Given the description of an element on the screen output the (x, y) to click on. 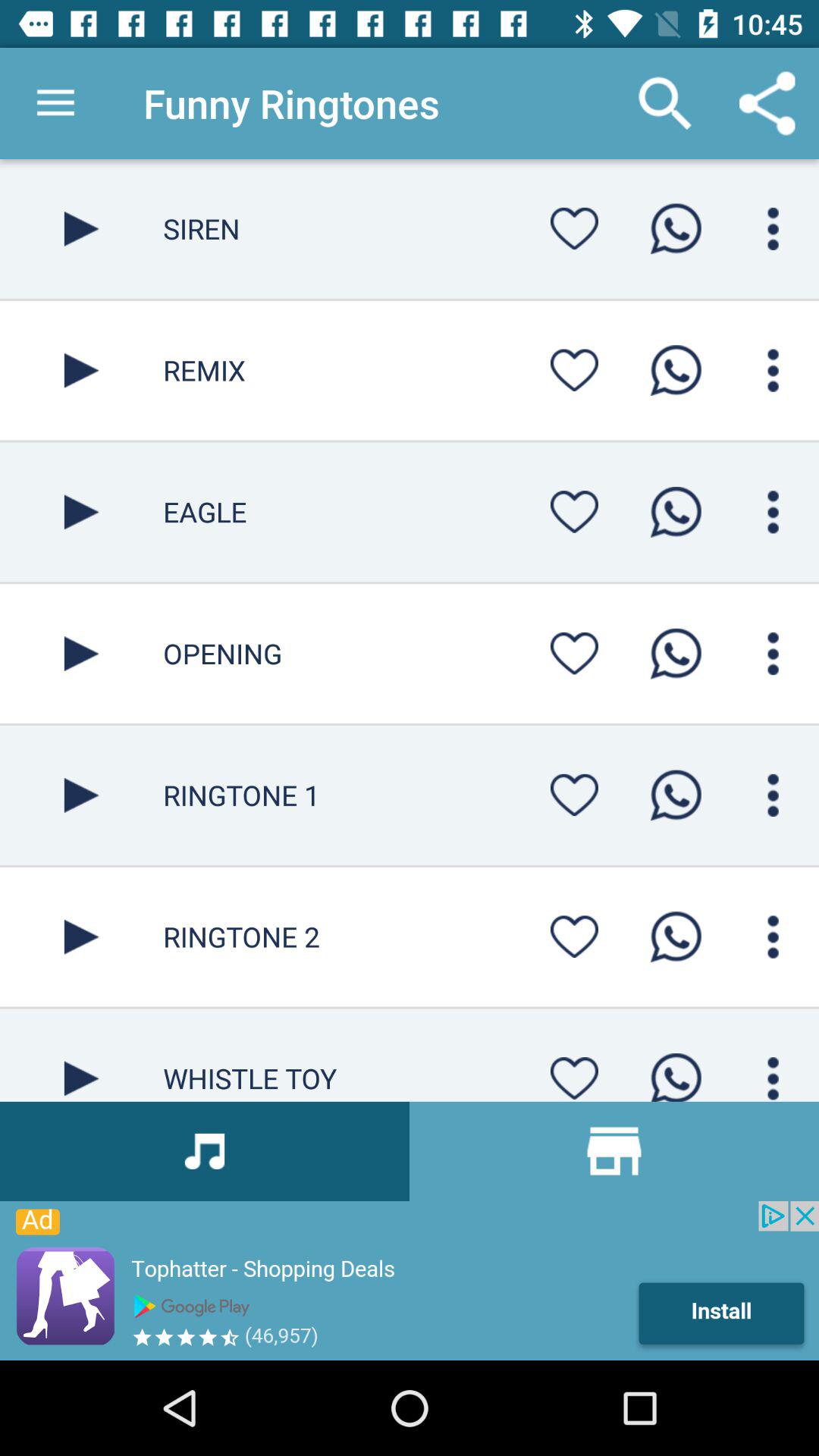
favorite (574, 369)
